Given the description of an element on the screen output the (x, y) to click on. 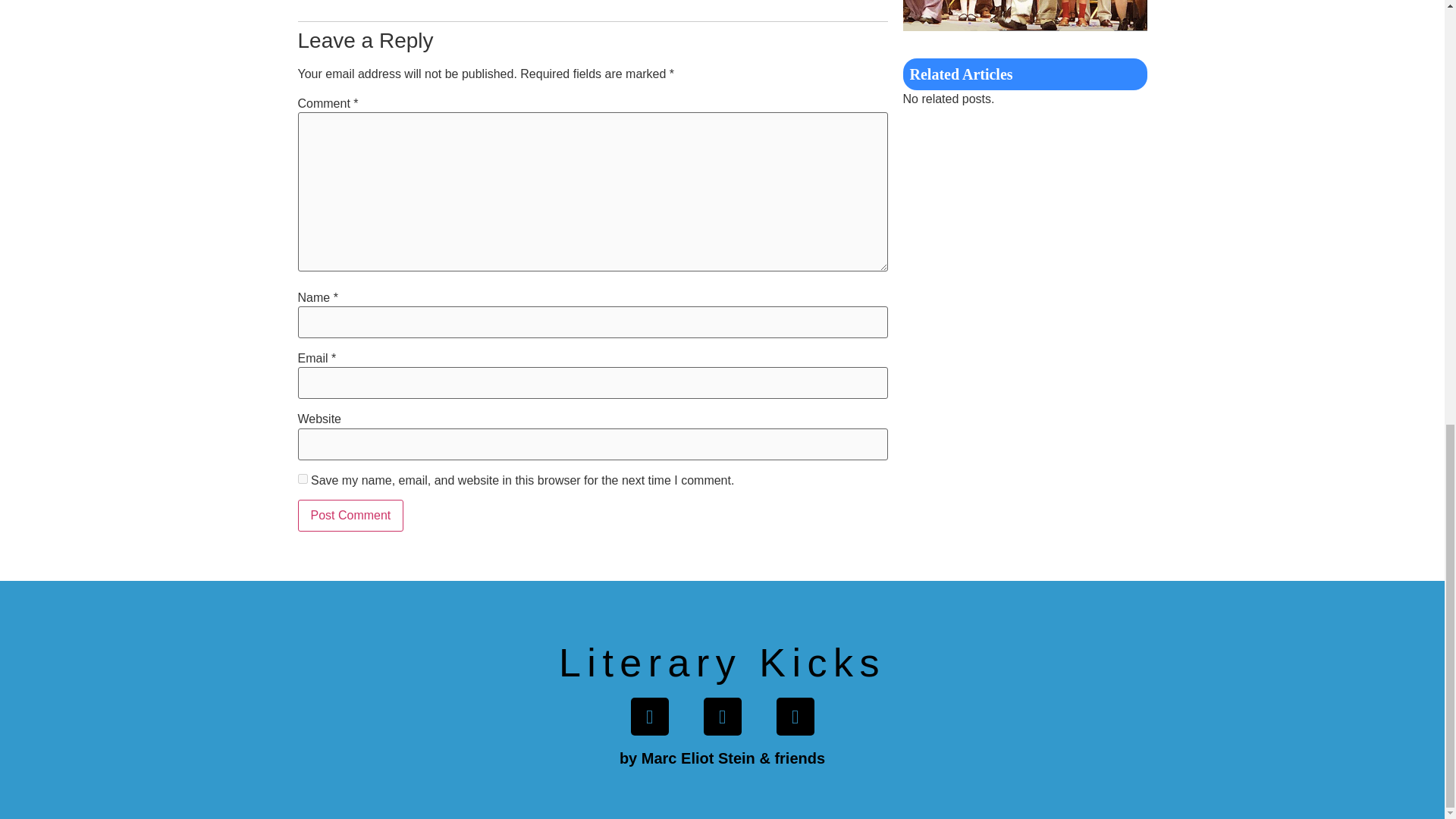
yes (302, 479)
Post Comment (350, 515)
